Given the description of an element on the screen output the (x, y) to click on. 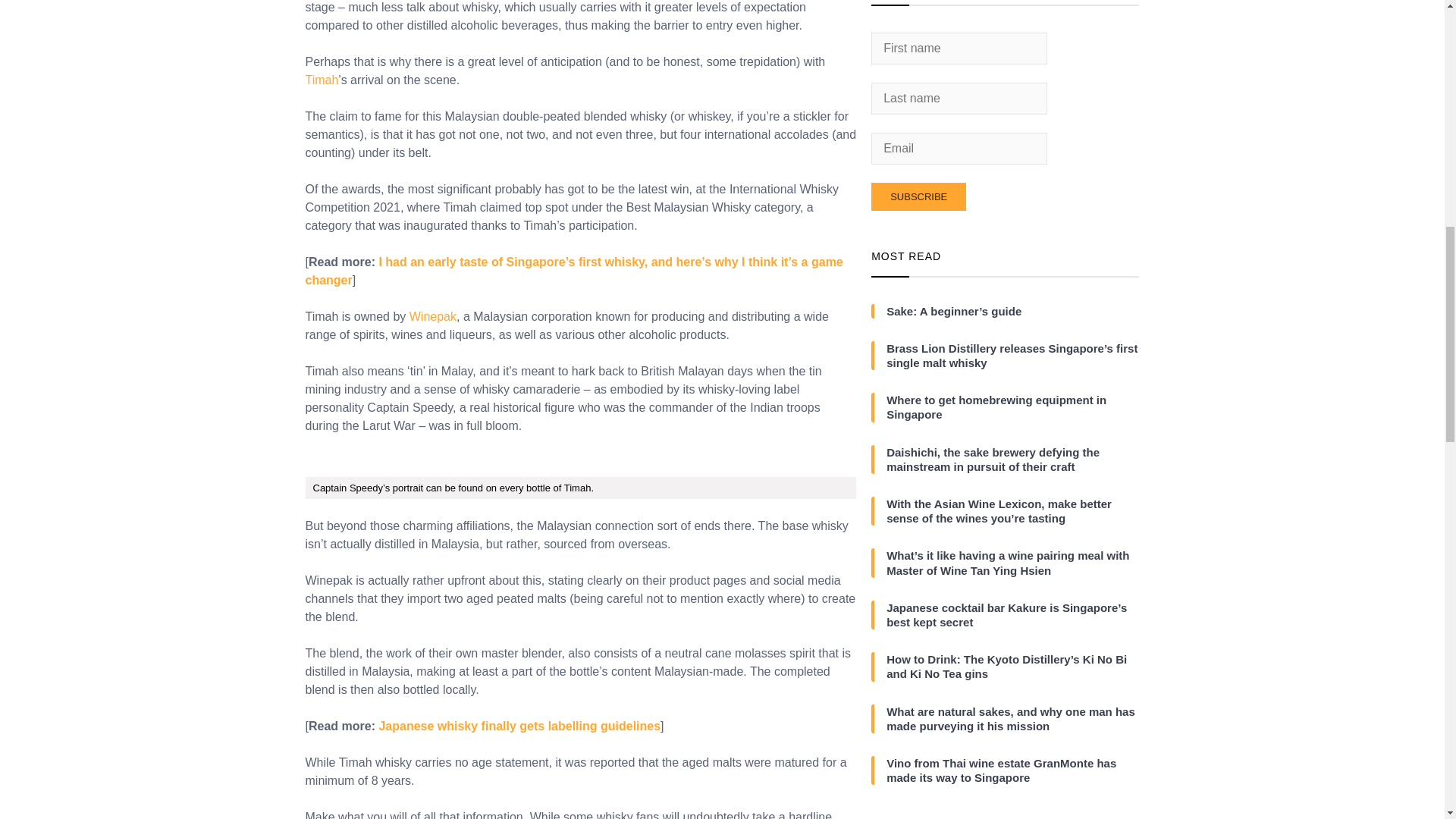
Timah (320, 79)
Subscribe (918, 196)
Winepak (433, 316)
Where to get homebrewing equipment in Singapore (1012, 407)
Japanese whisky finally gets labelling guidelines (519, 725)
Subscribe (918, 196)
